Given the description of an element on the screen output the (x, y) to click on. 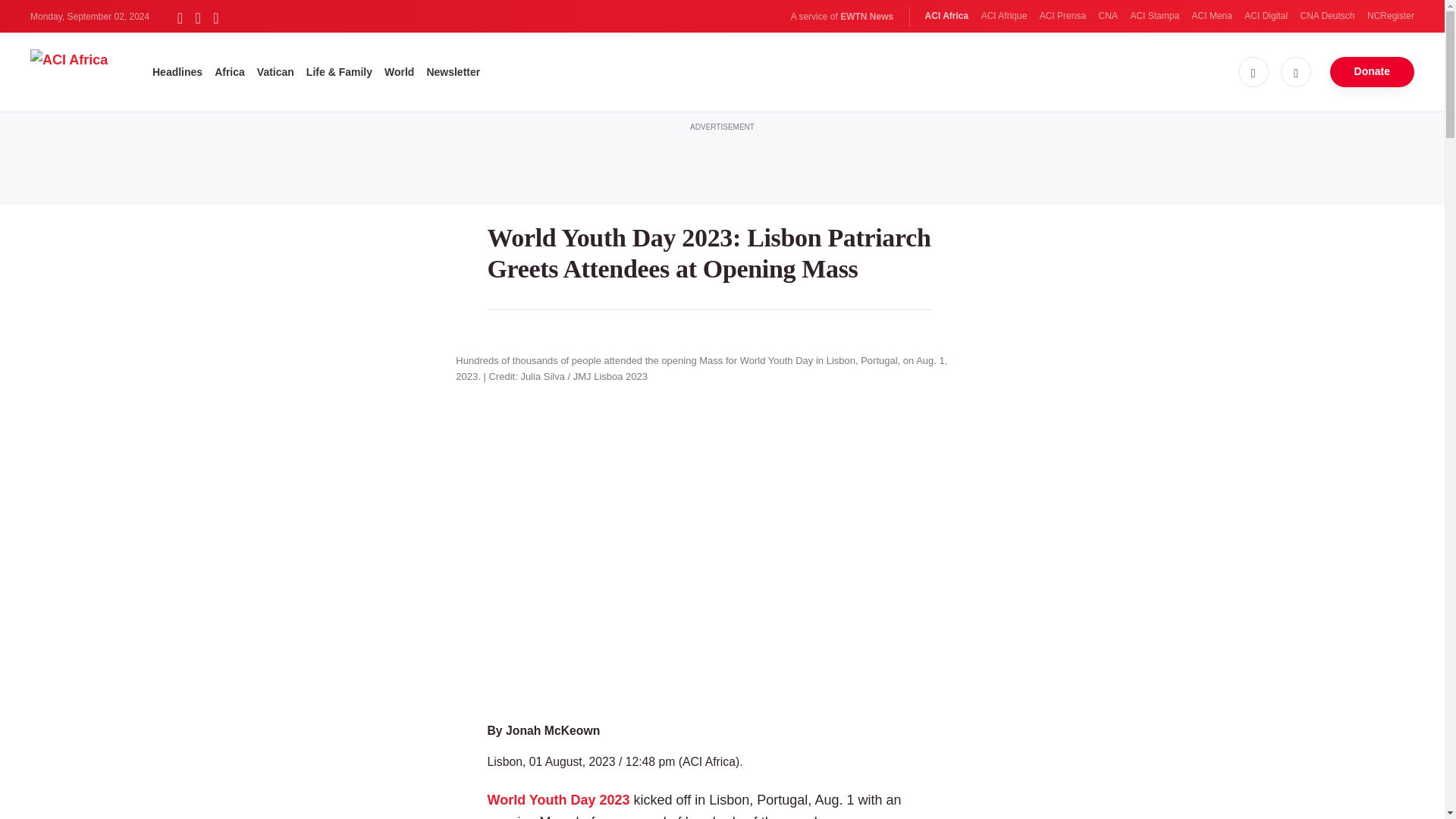
Newsletter (453, 71)
EWTN News (866, 16)
ACI Digital (1265, 16)
NCRegister (1390, 16)
ACI Stampa (1154, 16)
ACI Mena (1211, 16)
Africa (229, 71)
Donate (1371, 71)
CNA (1108, 16)
EWTN News (866, 16)
